Given the description of an element on the screen output the (x, y) to click on. 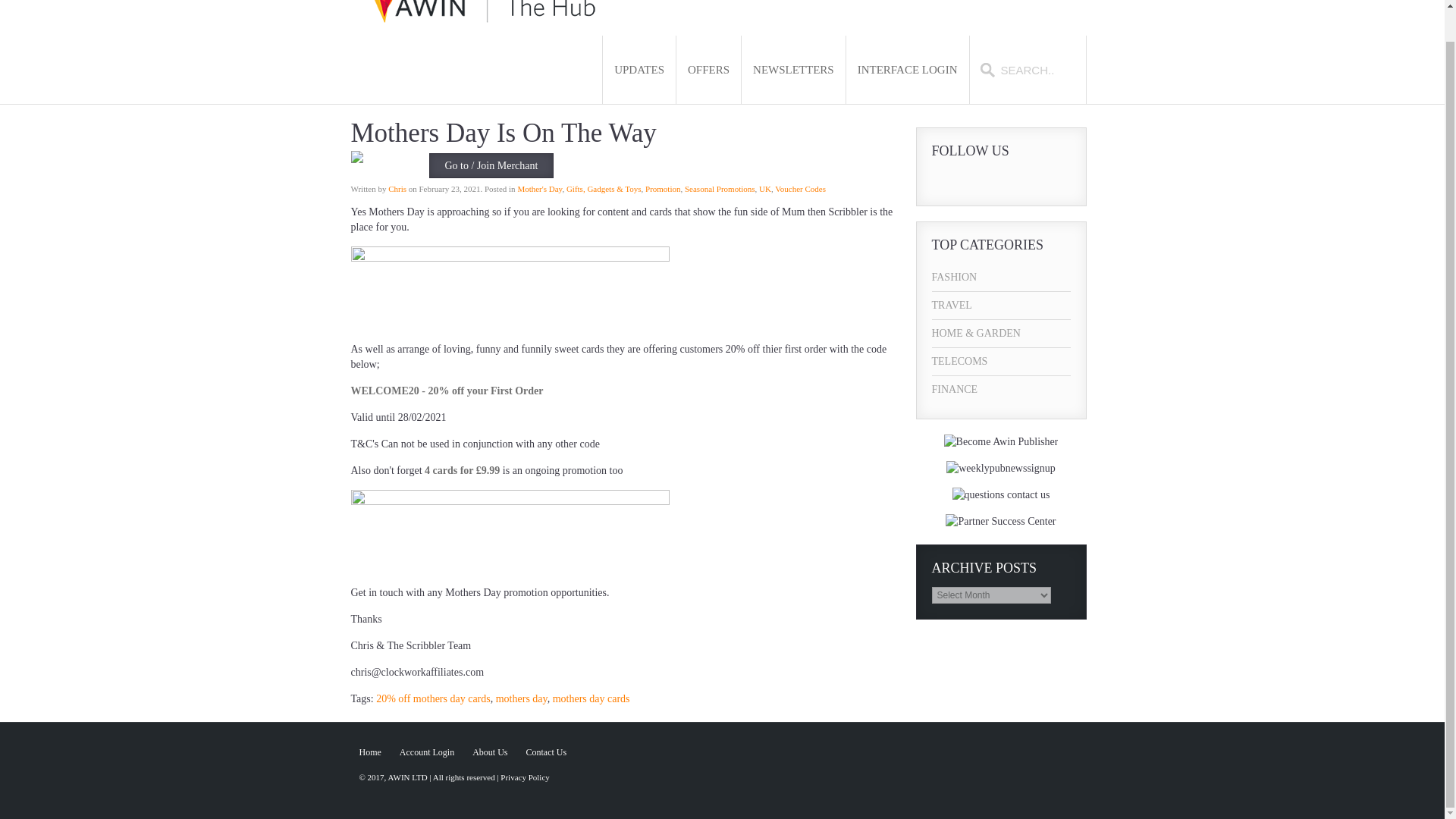
mothers day cards (591, 698)
Chris (397, 188)
TRAVEL (1000, 305)
Chris (397, 188)
Promotion (662, 188)
Voucher Codes (799, 188)
About Us (488, 752)
UPDATES (639, 70)
FINANCE (1000, 389)
Seasonal Promotions (719, 188)
Interface Login (907, 70)
mothers day (521, 698)
TELECOMS (1000, 361)
Mother's Day (539, 188)
UK (764, 188)
